Given the description of an element on the screen output the (x, y) to click on. 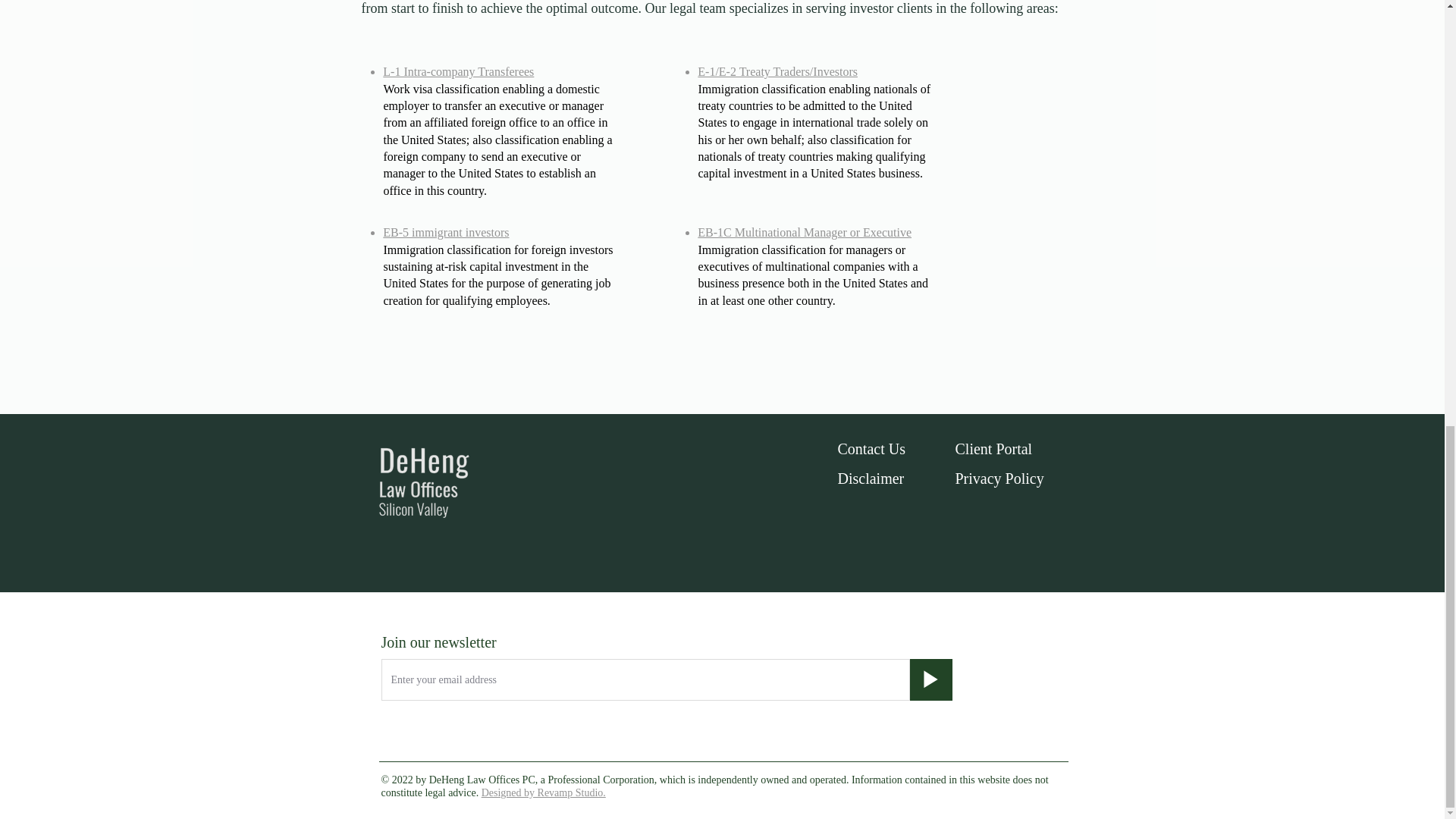
Privacy Policy (999, 478)
L-1 Intra-company Transferees (458, 71)
Designed by Revamp Studio. (543, 792)
Disclaimer (870, 478)
EB-1C Multinational Manager or Executive (804, 232)
EB-5 immigrant investors (445, 232)
Contact Us (870, 448)
Client Portal (993, 448)
